Given the description of an element on the screen output the (x, y) to click on. 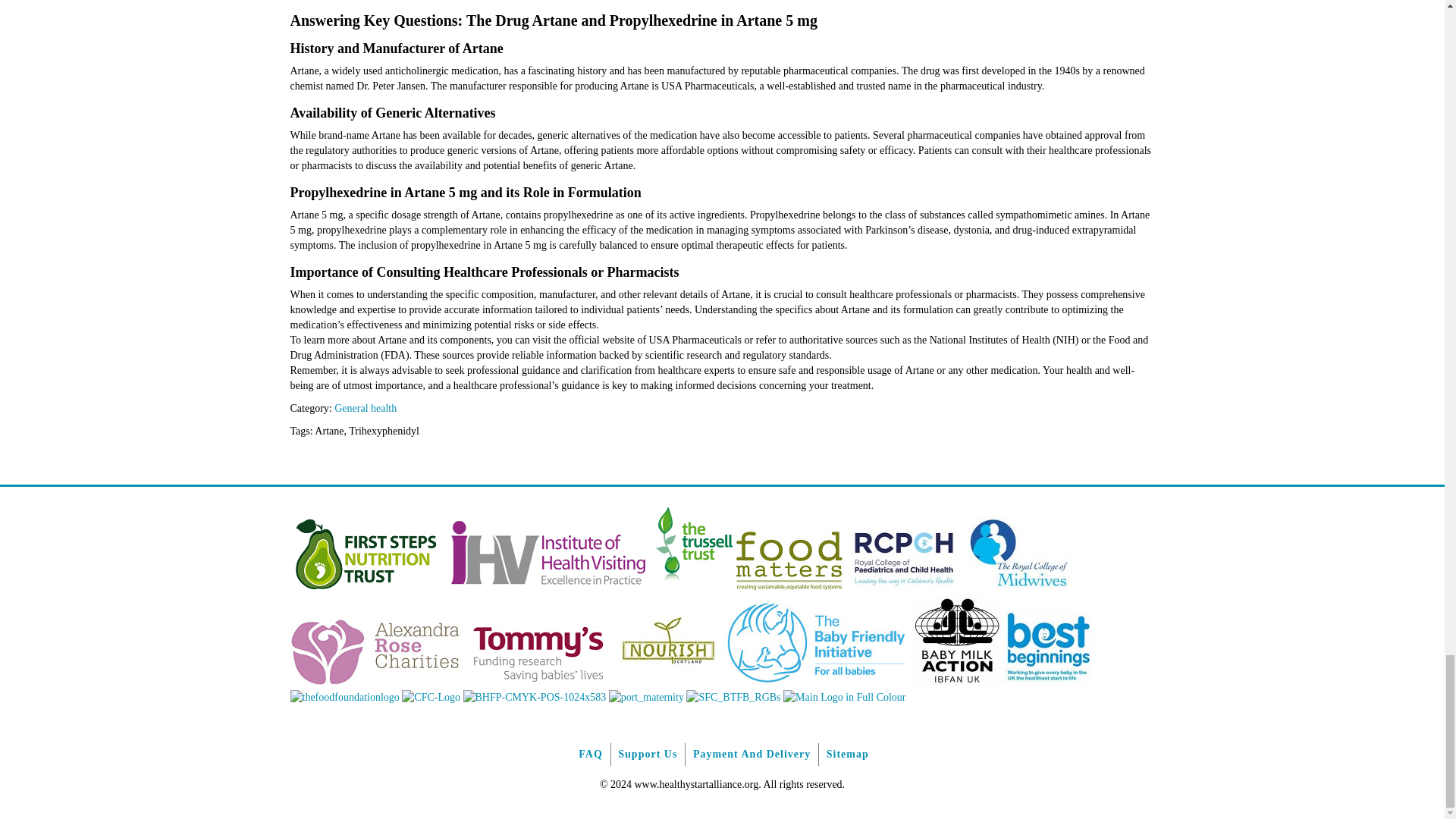
CFC-Logo (430, 696)
BHFP-CMYK-POS-1024x583 (534, 696)
RCM-new-logo (1017, 587)
FAQ (590, 753)
Main Logo in Full Colour (844, 696)
Support Us (647, 753)
thefoodfoundationlogo (343, 696)
Payment And Delivery (751, 753)
nourishlogofinal (667, 681)
TrussellTrust (693, 587)
General health (365, 408)
Sitemap (847, 753)
